Given the description of an element on the screen output the (x, y) to click on. 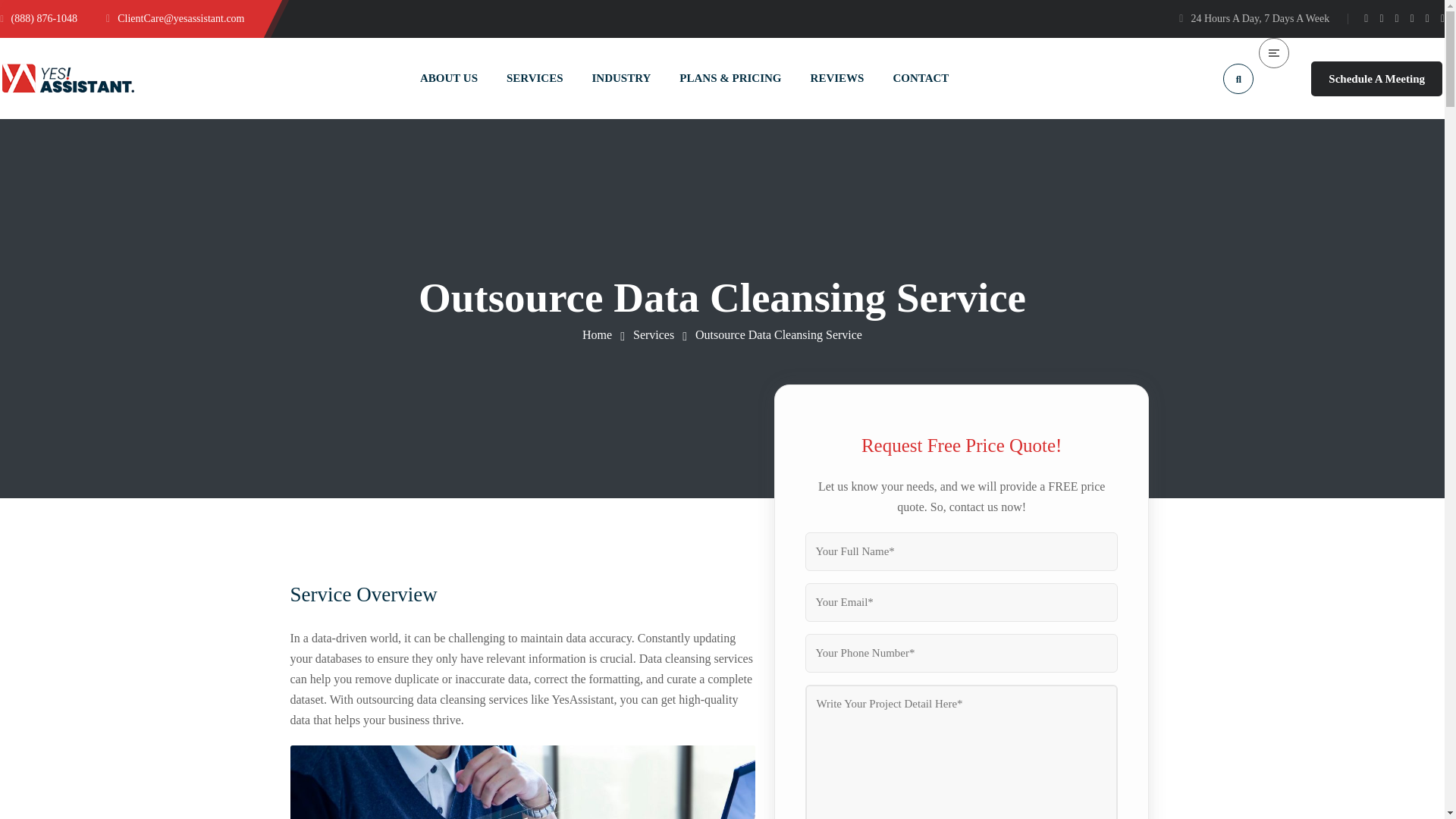
24 Hours A Day, 7 Days A Week (1254, 18)
YesAssistant LLC (596, 334)
Services (653, 334)
YesAssistant LLC (68, 77)
